Given the description of an element on the screen output the (x, y) to click on. 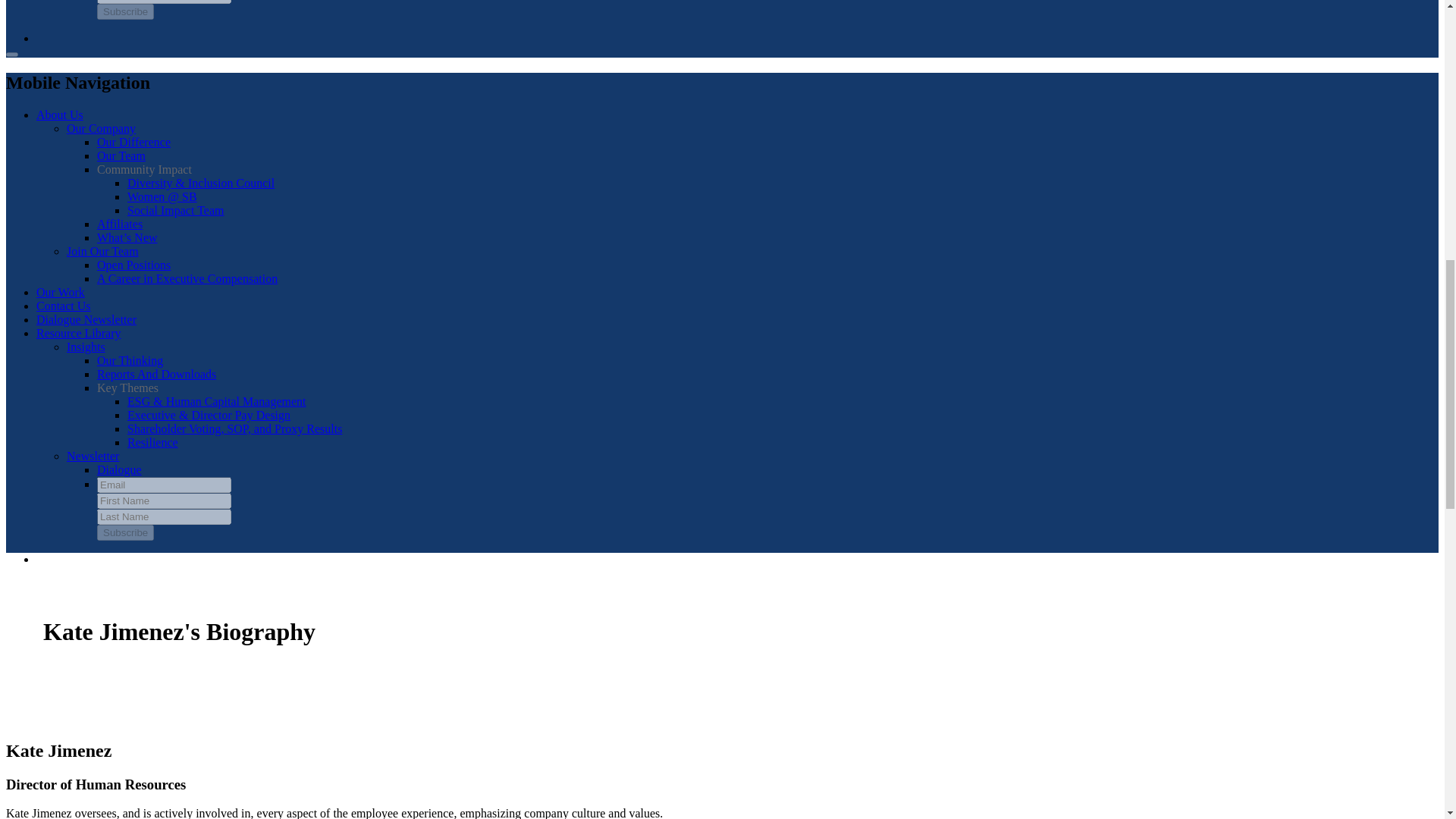
Community Impact (144, 169)
Our Company (100, 128)
Our Team (121, 155)
insights (156, 373)
About Us (59, 114)
Our Difference (133, 141)
dialogue (119, 469)
affiliates (119, 223)
insights (130, 359)
key-themes (127, 387)
